Given the description of an element on the screen output the (x, y) to click on. 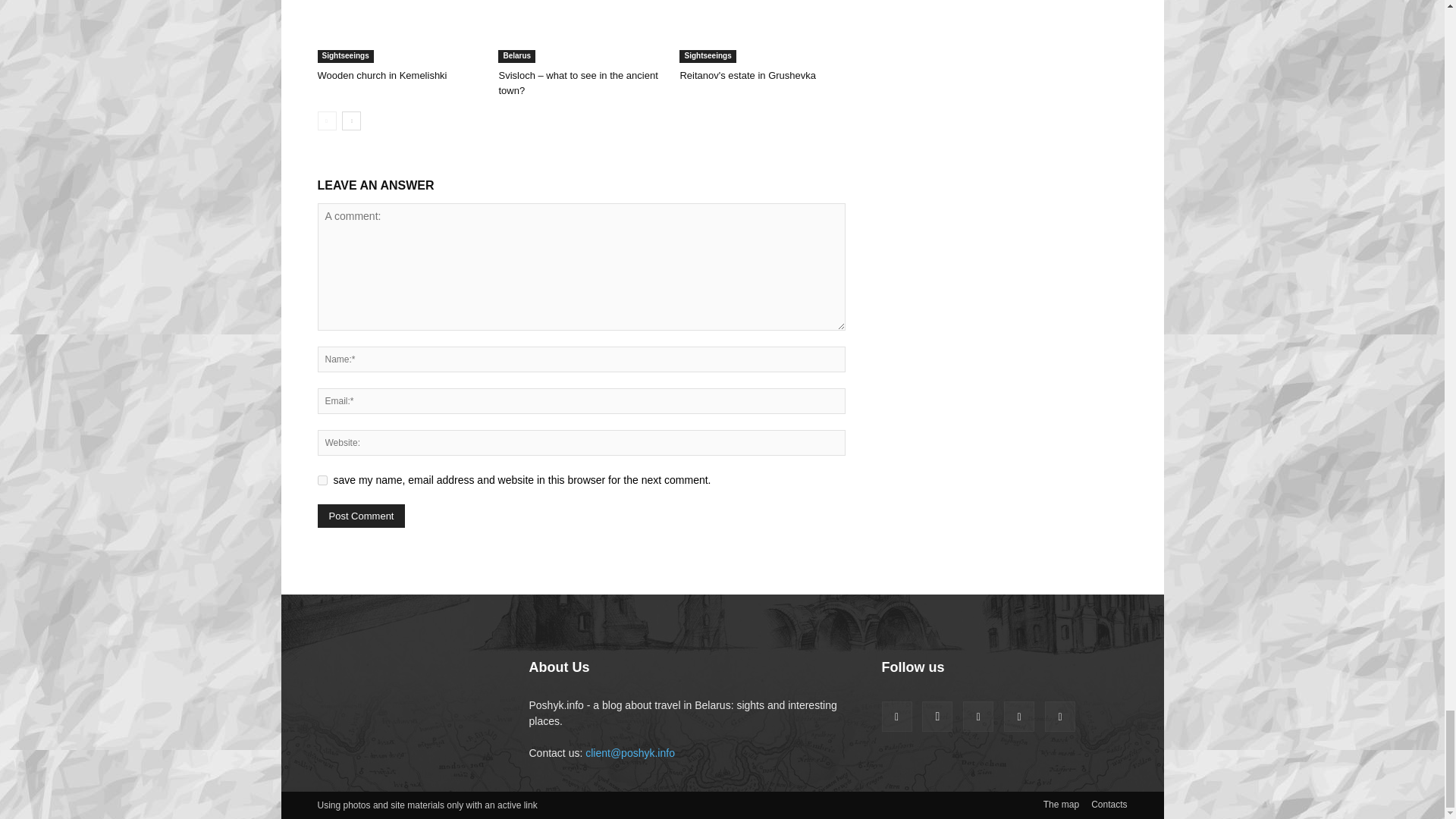
Post Comment (360, 515)
yes (321, 480)
